Given the description of an element on the screen output the (x, y) to click on. 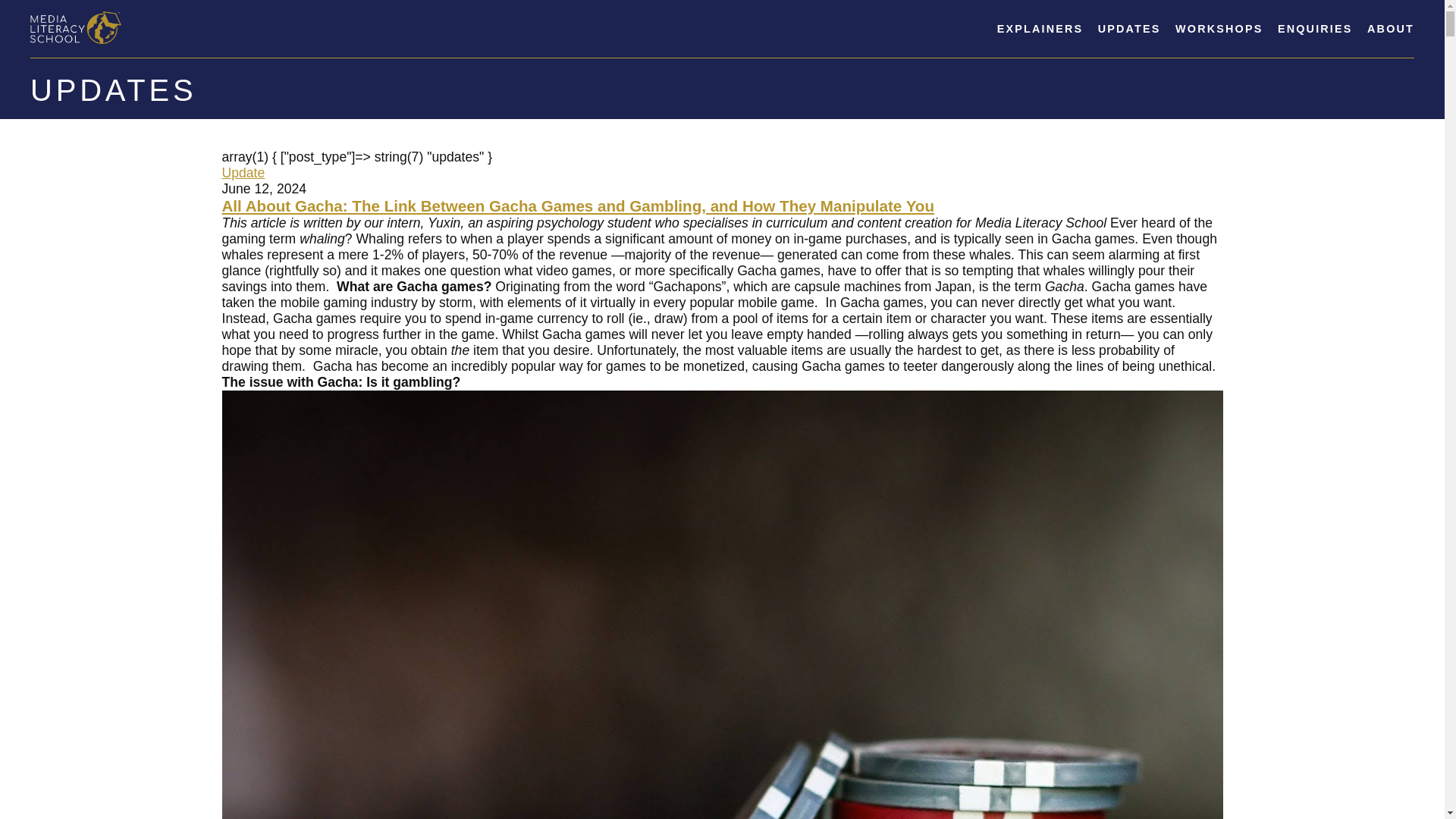
ENQUIRIES (1315, 28)
ABOUT (1390, 28)
WORKSHOPS (1218, 28)
EXPLAINERS (1040, 28)
UPDATES (1128, 28)
Update (242, 172)
UPDATES (113, 90)
